Given the description of an element on the screen output the (x, y) to click on. 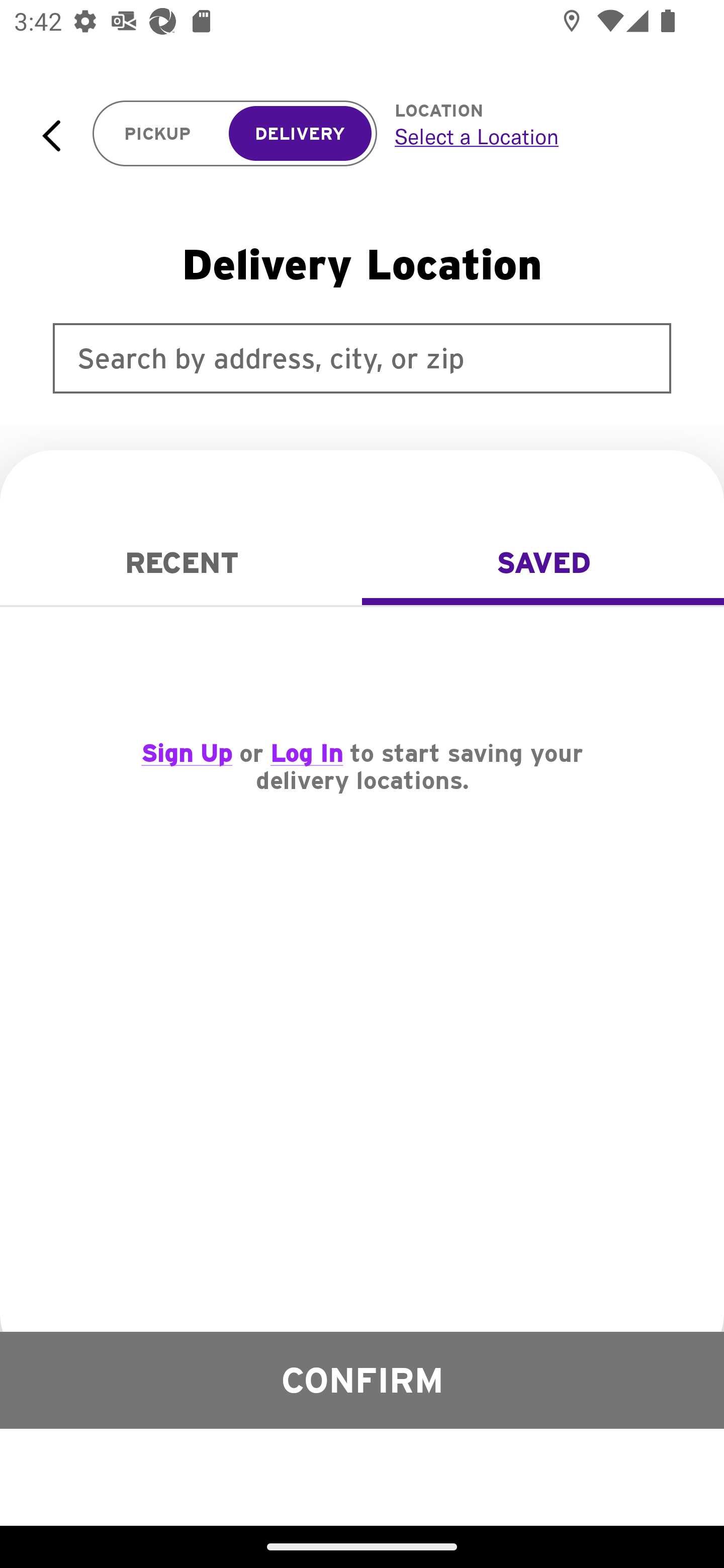
PICKUP (157, 133)
DELIVERY (299, 133)
Select a Location (536, 136)
Search by address, city, or zip (361, 358)
Recent RECENT (181, 562)
CONFIRM (362, 1379)
